Given the description of an element on the screen output the (x, y) to click on. 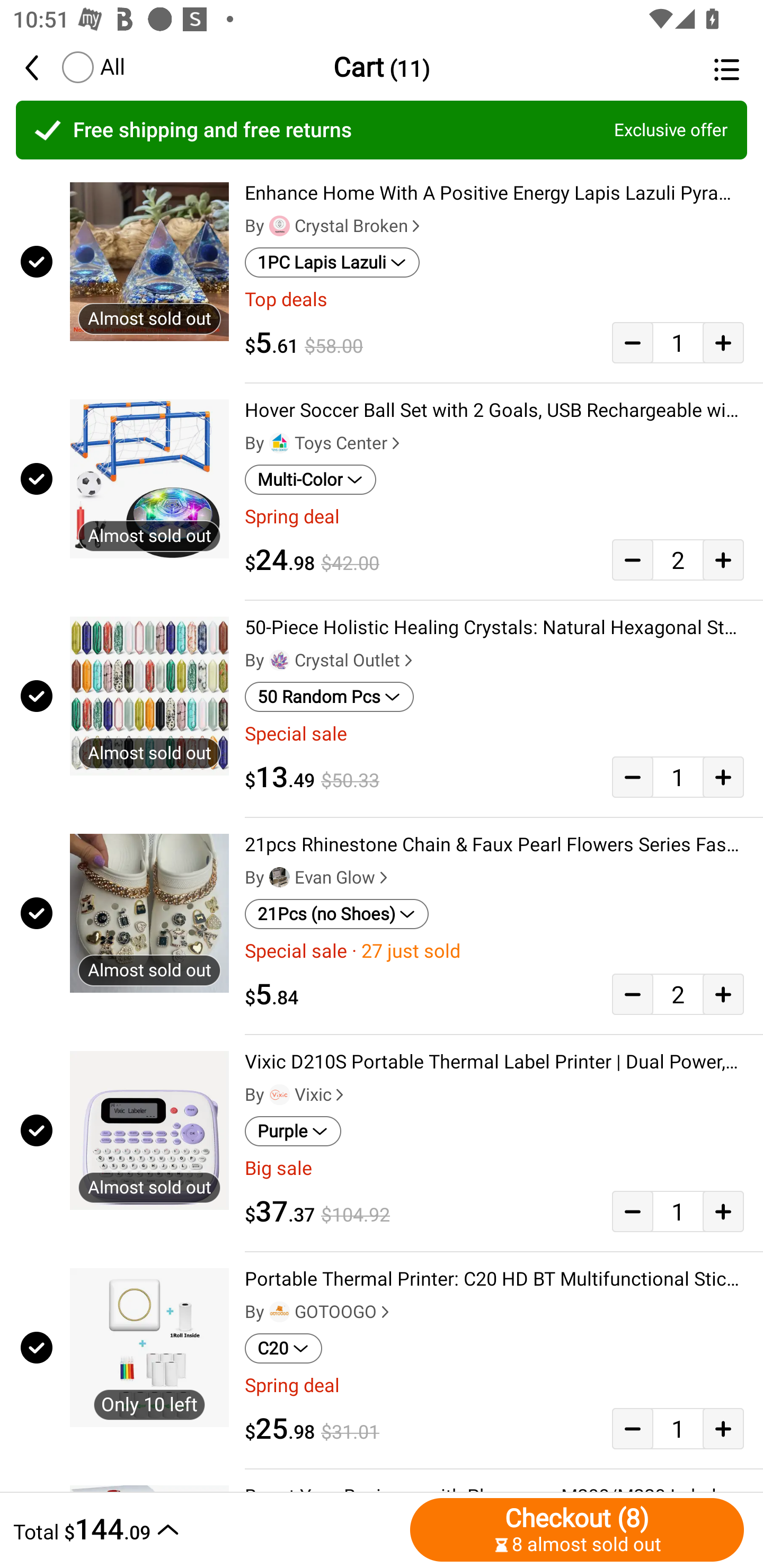
back (41, 67)
Select all tick button All (92, 67)
Free shipping and free returns Exclusive offer (381, 129)
Product checkbox checked (35, 260)
By Crystal Broken (334, 226)
1PC Lapis Lazuli (331, 262)
Decrease quantity button (632, 342)
1 (677, 342)
Add quantity button (722, 342)
Product checkbox checked (35, 478)
By Toys Center (323, 442)
Multi-Color (310, 479)
Decrease quantity button (632, 559)
2 (677, 559)
Add quantity button (722, 559)
Product checkbox checked (35, 696)
By Crystal Outlet (330, 660)
50 Random Pcs (328, 696)
Special sale (493, 733)
Decrease quantity button (632, 776)
1 (677, 776)
Add quantity button (722, 776)
Product checkbox checked (35, 913)
By Evan Glow (317, 877)
21Pcs (no Shoes) (336, 913)
Special sale · 27 just sold (493, 951)
Decrease quantity button (632, 993)
2 (677, 993)
Add quantity button (722, 993)
Product checkbox checked (35, 1130)
By Vixic (295, 1095)
Purple (292, 1131)
Big sale (493, 1168)
Decrease quantity button (632, 1211)
1 (677, 1211)
Add quantity button (722, 1211)
Product checkbox checked (35, 1347)
By GOTOOGO (318, 1311)
C20 (282, 1348)
Spring deal (493, 1386)
Decrease quantity button (632, 1428)
1 (677, 1428)
Add quantity button (722, 1428)
Total $144.09 (206, 1529)
Checkout Checkout (8) ￼8 almost sold out (576, 1529)
